Given the description of an element on the screen output the (x, y) to click on. 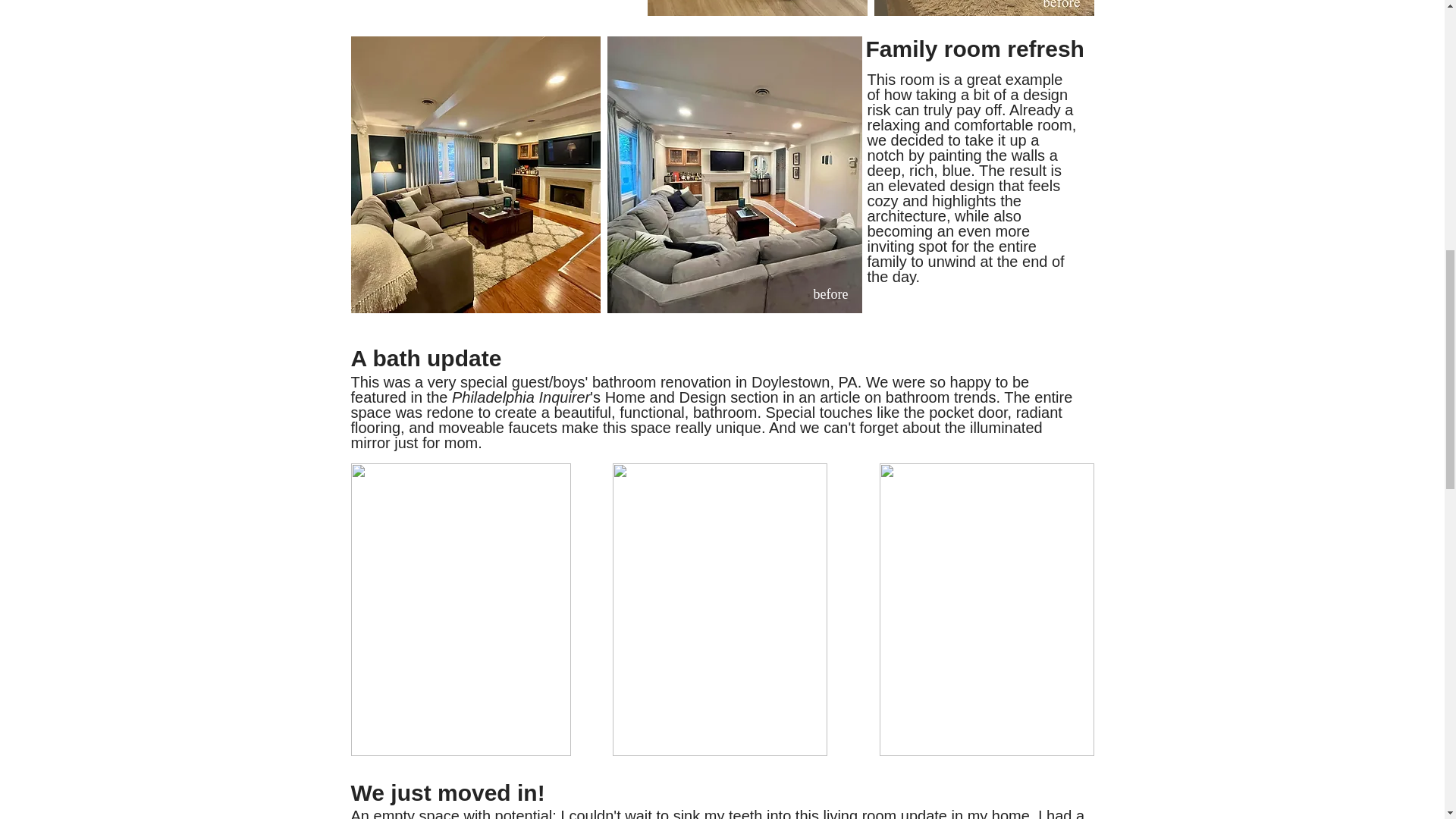
FAMILYROOMBEFORE.jpg (734, 174)
FAMILYROOM3.jpg (474, 174)
